Given the description of an element on the screen output the (x, y) to click on. 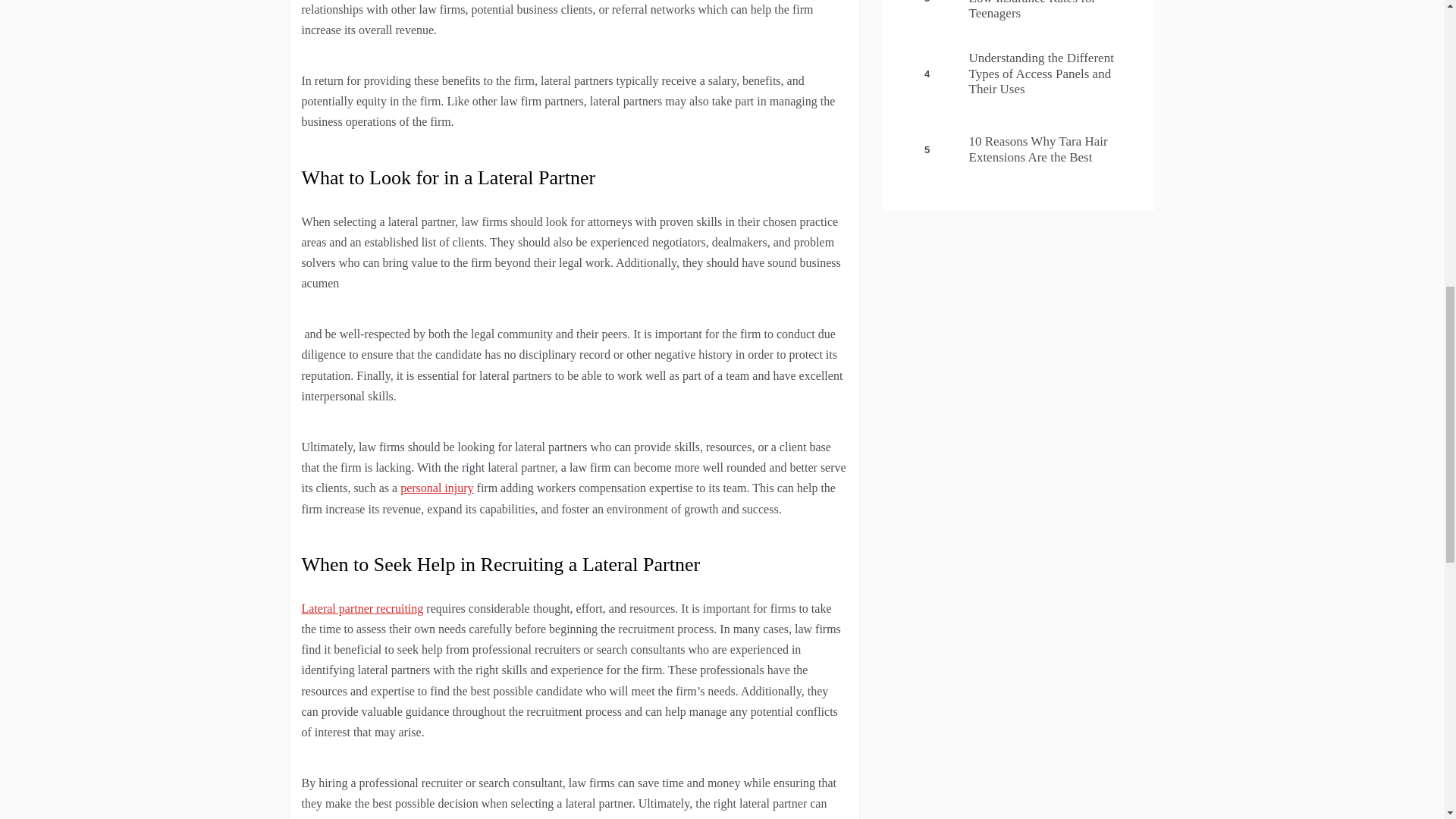
Lateral partner recruiting (362, 608)
10 Reasons Why Tara Hair Extensions Are the Best (1038, 148)
personal injury (436, 487)
